Given the description of an element on the screen output the (x, y) to click on. 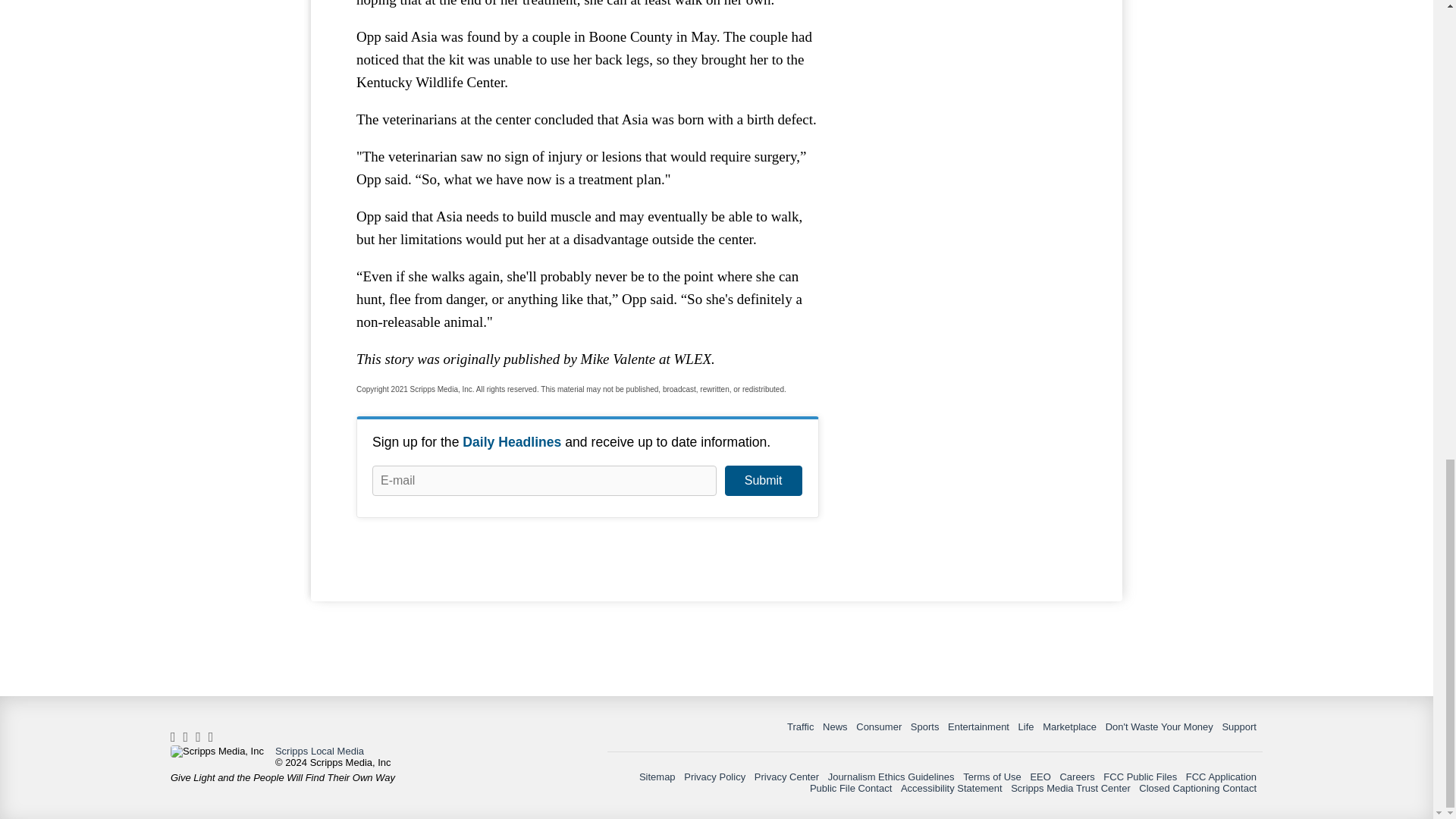
Submit (763, 481)
